Given the description of an element on the screen output the (x, y) to click on. 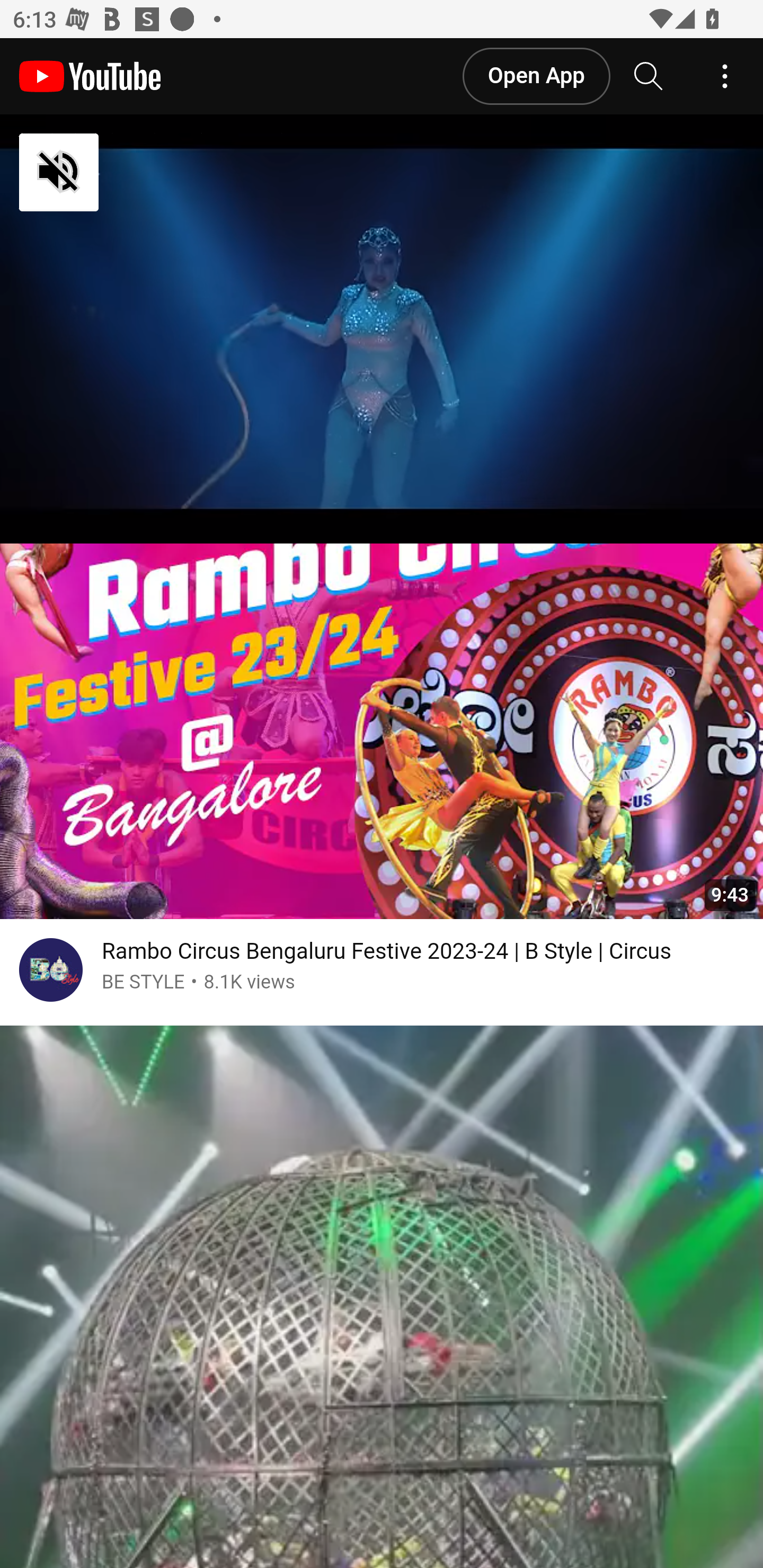
YouTube (89, 76)
Search YouTube (648, 76)
Account (724, 76)
Open App (535, 76)
YouTube Video Player TAP TO UNMUTE (381, 329)
TAP TO UNMUTE (152, 173)
Go to channel (50, 973)
